Given the description of an element on the screen output the (x, y) to click on. 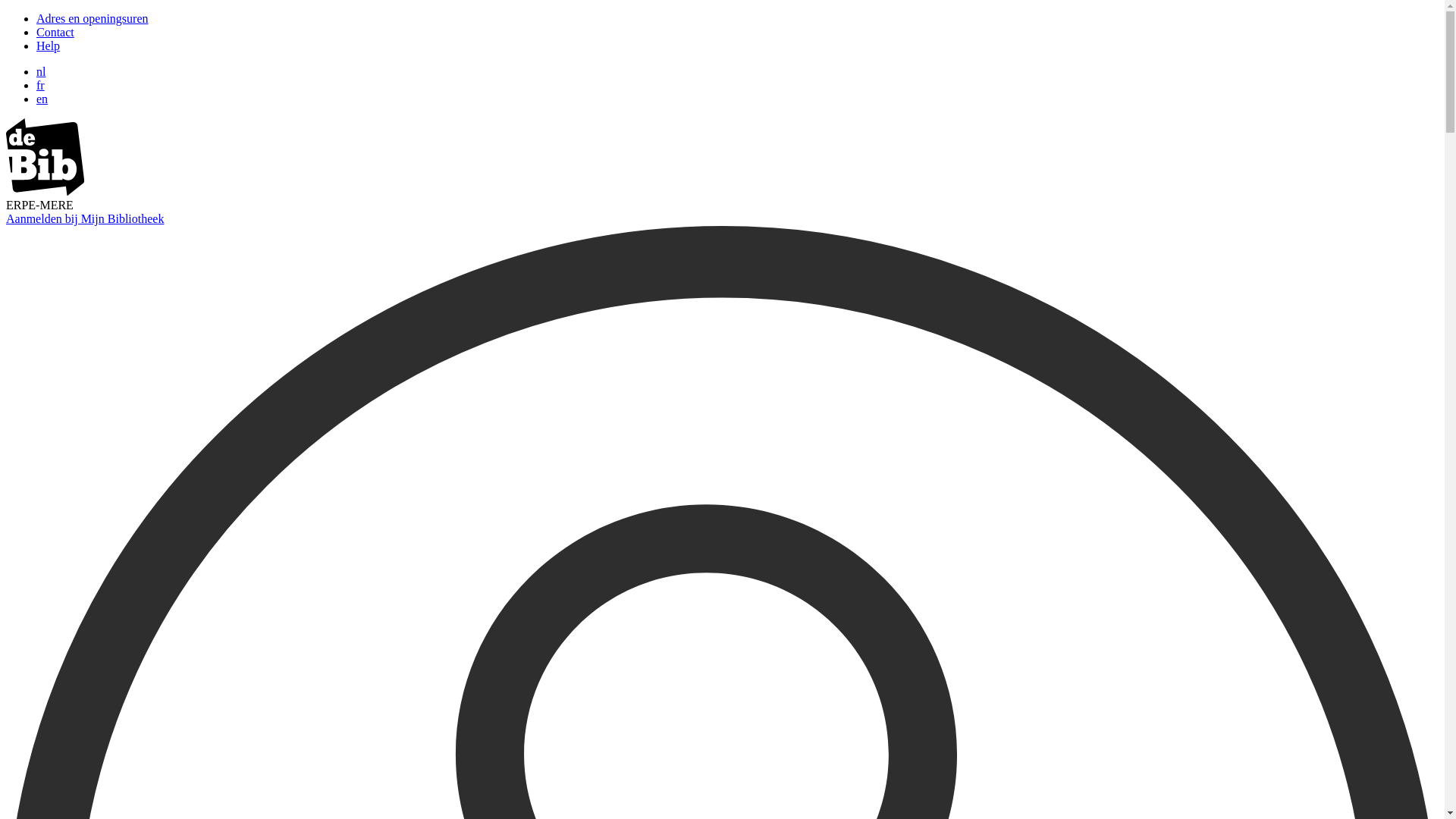
Contact Element type: text (55, 31)
Overslaan en naar zoeken gaan Element type: text (6, 12)
nl Element type: text (40, 71)
image/svg+xml Element type: text (45, 191)
en Element type: text (41, 98)
Help Element type: text (47, 45)
fr Element type: text (40, 84)
Aanmelden bij Mijn Bibliotheek Element type: text (84, 218)
Adres en openingsuren Element type: text (92, 18)
